Given the description of an element on the screen output the (x, y) to click on. 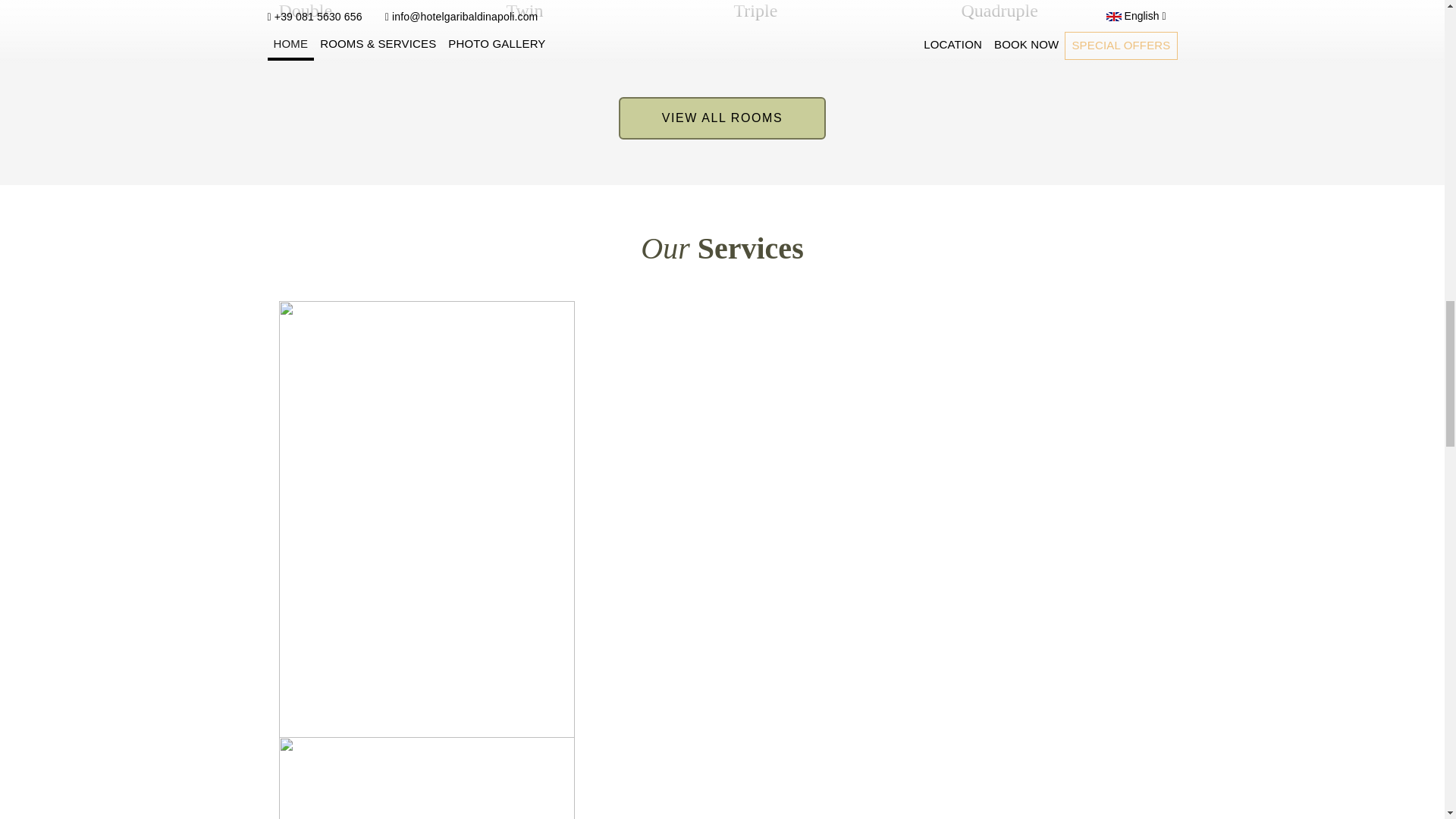
Triple (755, 10)
Double (306, 10)
Quadruple (999, 10)
Twin (524, 10)
VIEW ALL ROOMS (722, 118)
